Given the description of an element on the screen output the (x, y) to click on. 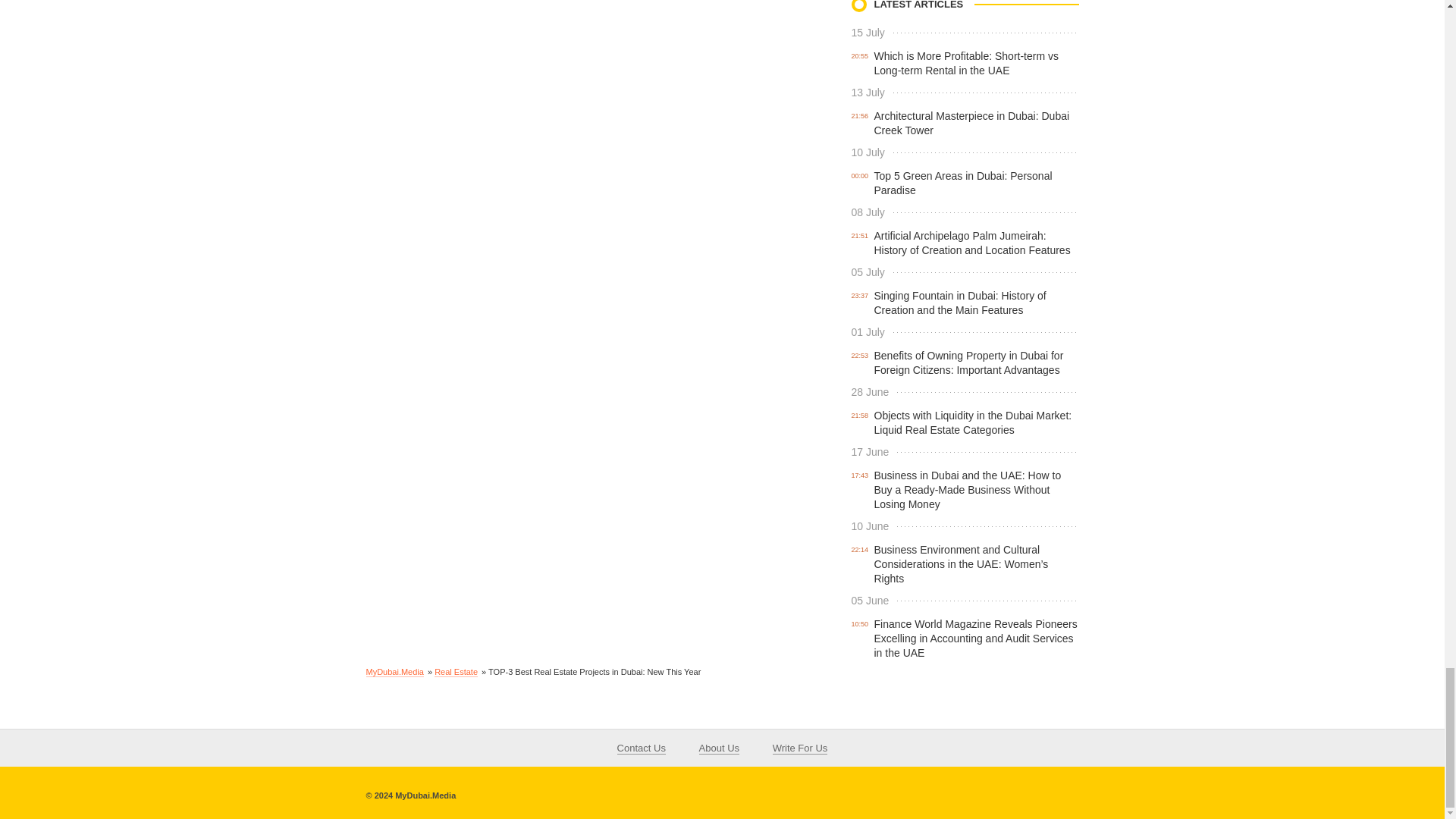
Top 5 Green Areas in Dubai: Personal Paradise (962, 183)
Architectural Masterpiece in Dubai: Dubai Creek Tower (970, 123)
